Given the description of an element on the screen output the (x, y) to click on. 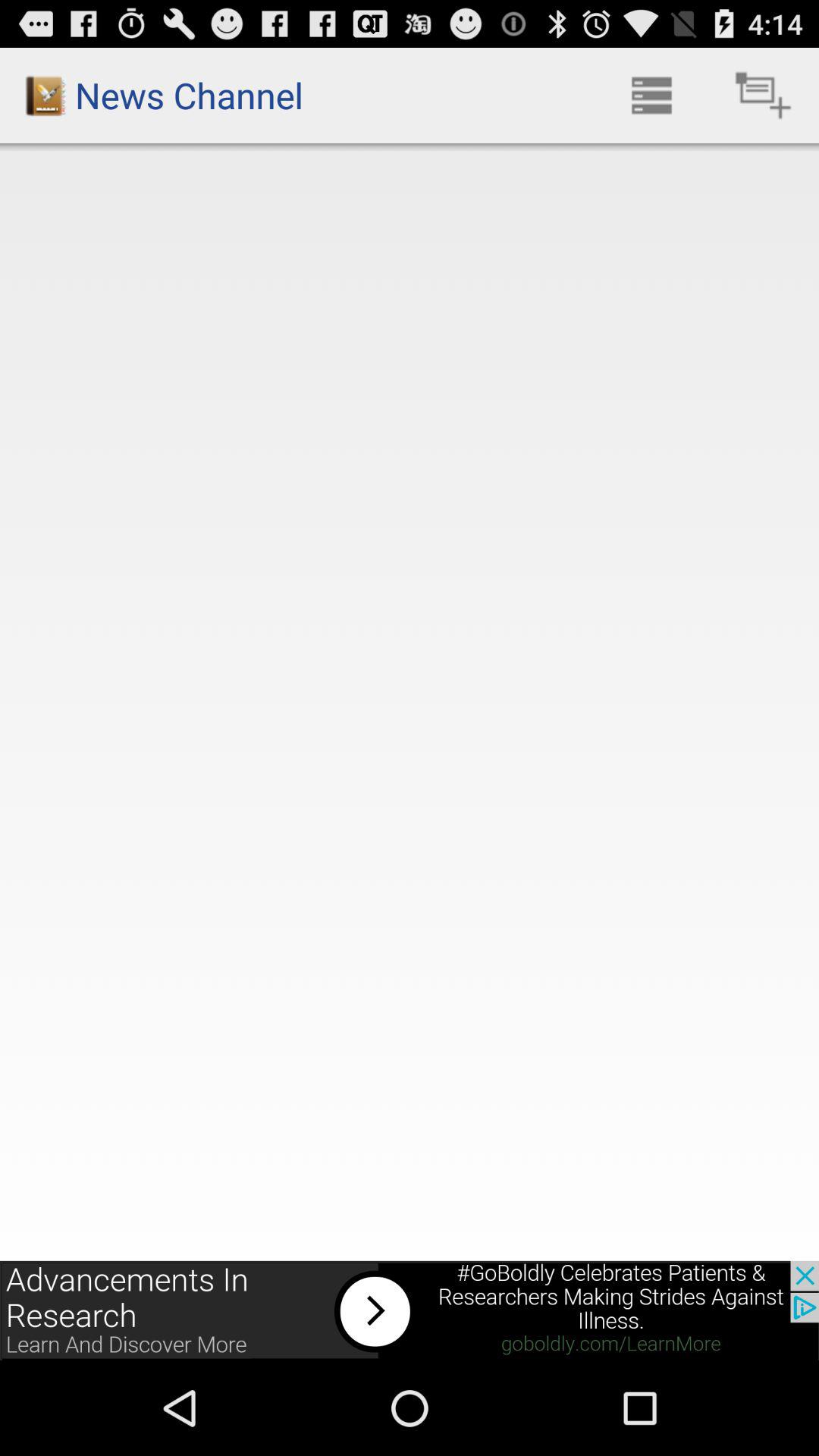
advertisement for research (409, 1310)
